Given the description of an element on the screen output the (x, y) to click on. 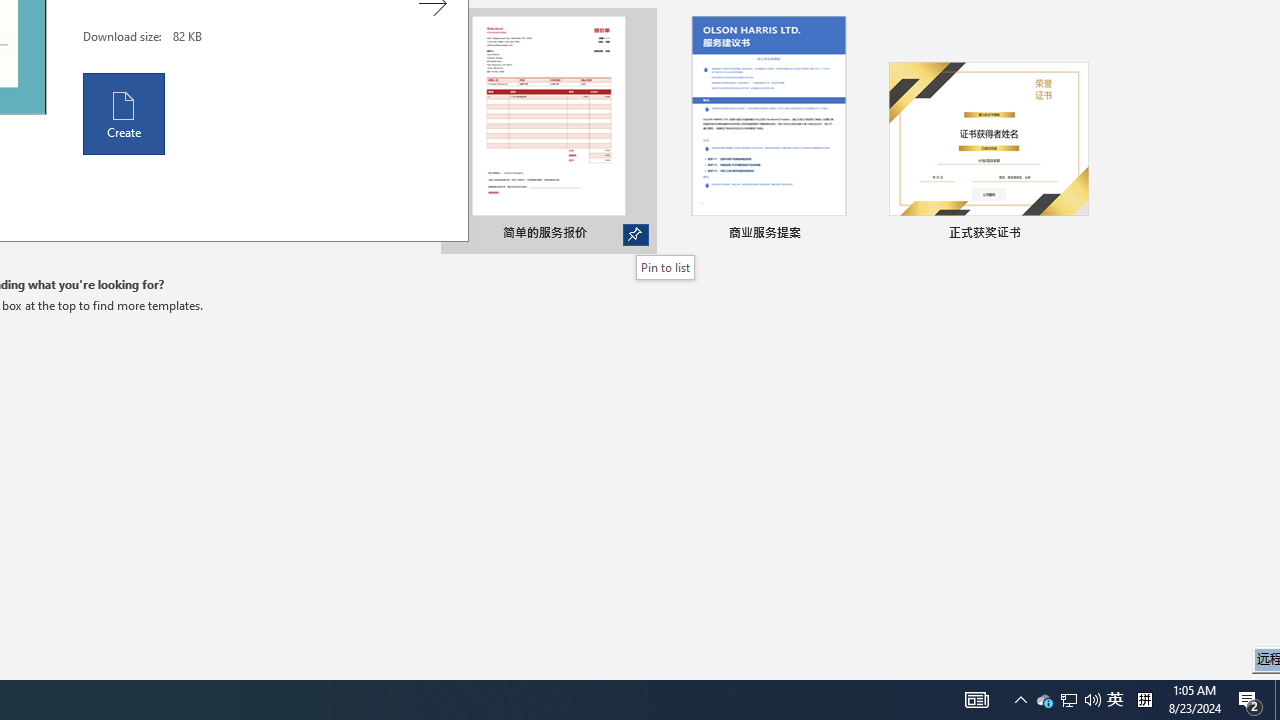
Pin to list (1075, 234)
Create (124, 113)
Pin to list (665, 267)
